Given the description of an element on the screen output the (x, y) to click on. 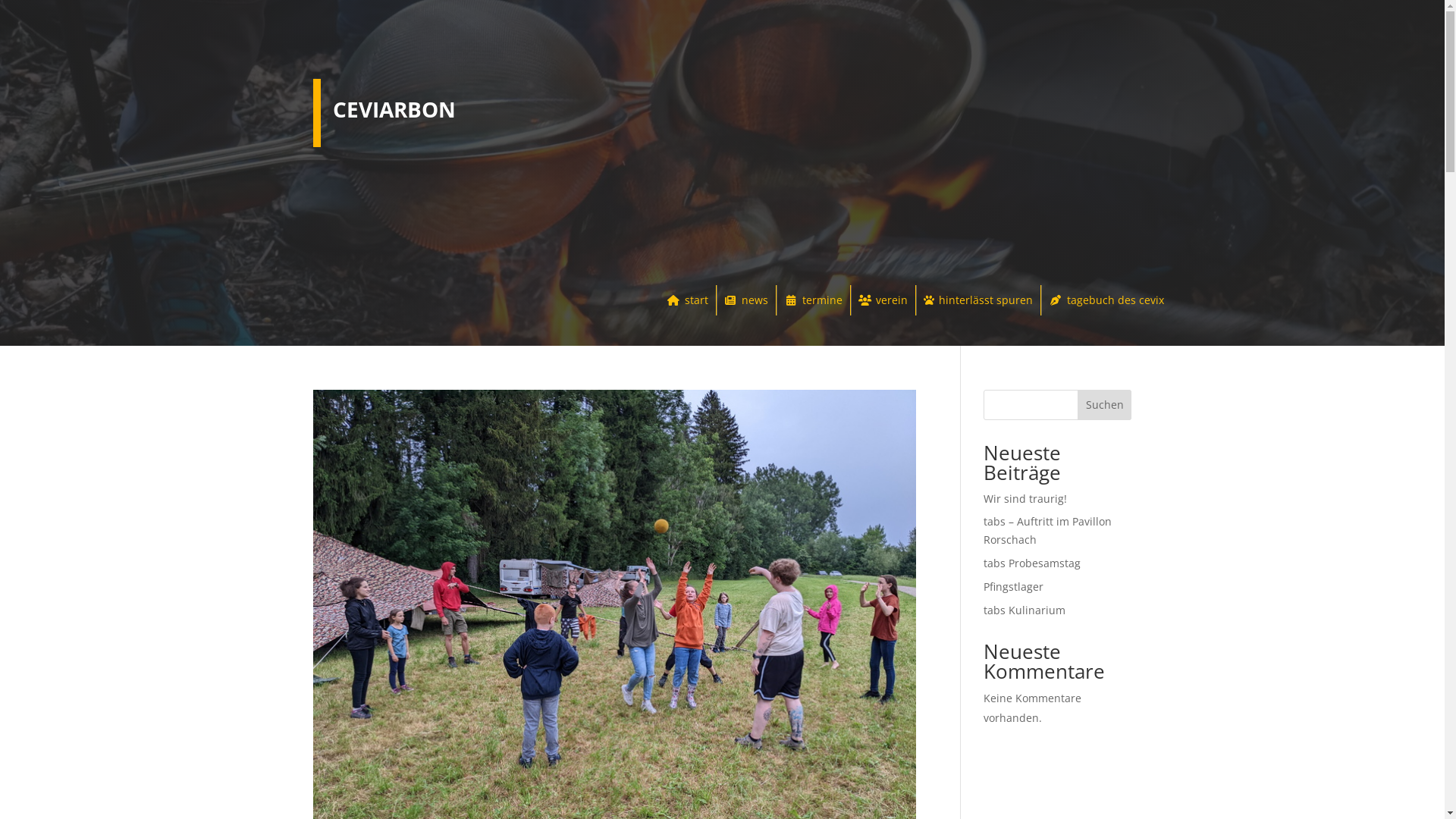
Suchen Element type: text (1104, 404)
start Element type: text (686, 300)
tagebuch des cevix Element type: text (1106, 300)
Wir sind traurig! Element type: text (1024, 498)
Pfingstlager Element type: text (1013, 586)
tabs Kulinarium Element type: text (1024, 609)
tabs Probesamstag Element type: text (1031, 562)
verein Element type: text (883, 300)
news Element type: text (745, 300)
termine Element type: text (813, 300)
